Given the description of an element on the screen output the (x, y) to click on. 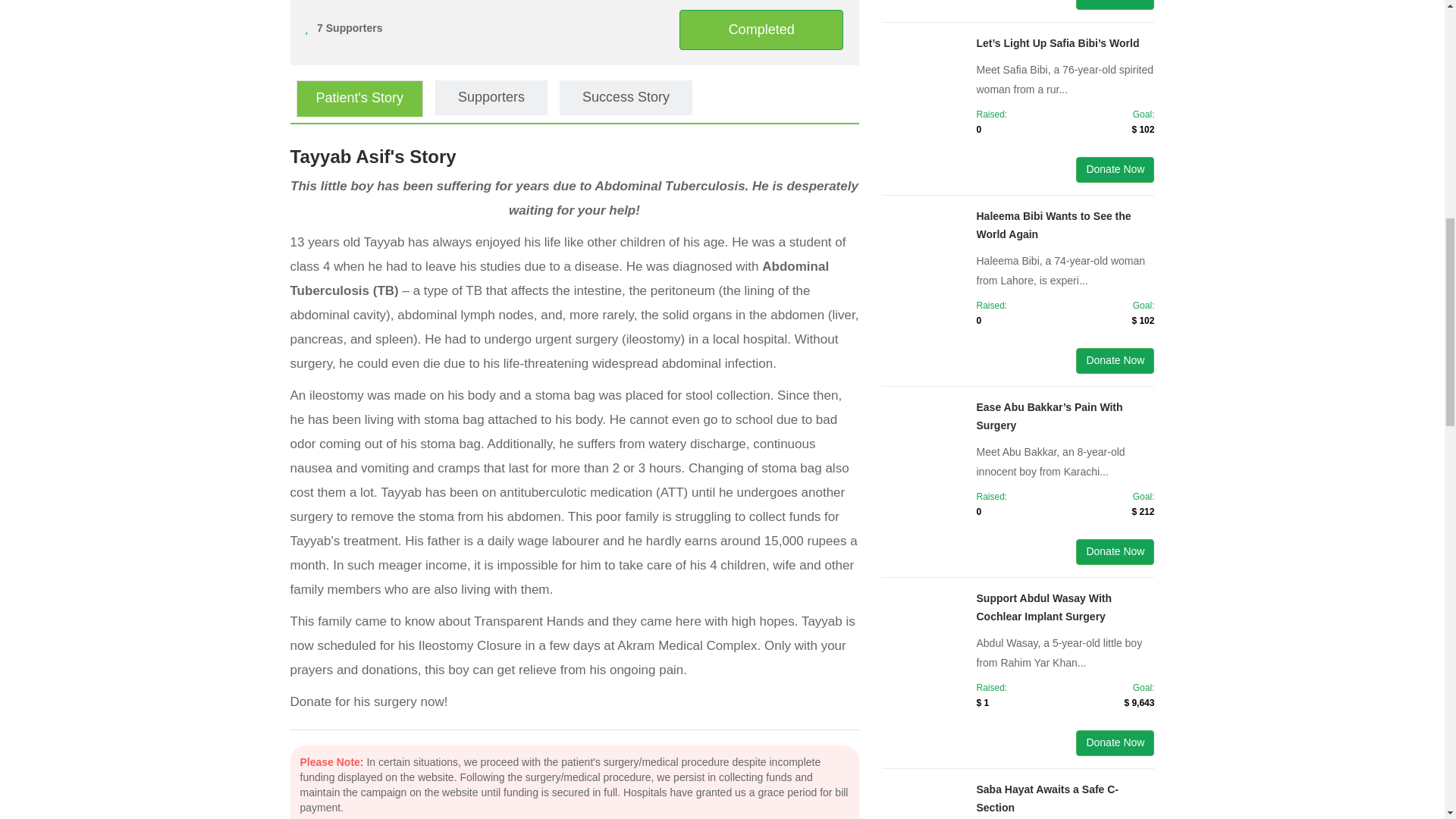
Success Story (626, 97)
Patient's Story (359, 98)
Supporters (491, 97)
Completed (761, 29)
Completed (761, 28)
